Given the description of an element on the screen output the (x, y) to click on. 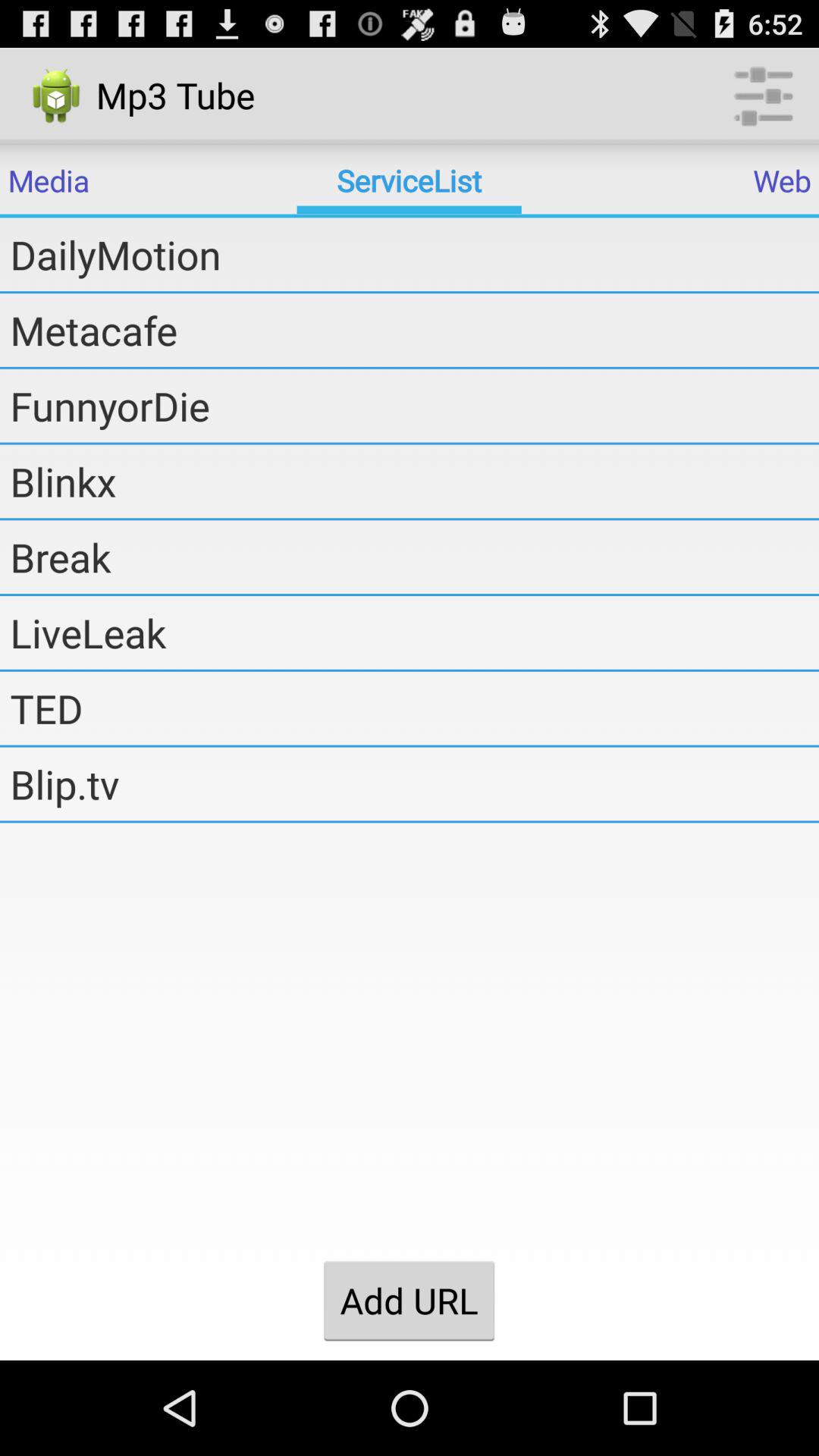
swipe to funnyordie icon (414, 405)
